Given the description of an element on the screen output the (x, y) to click on. 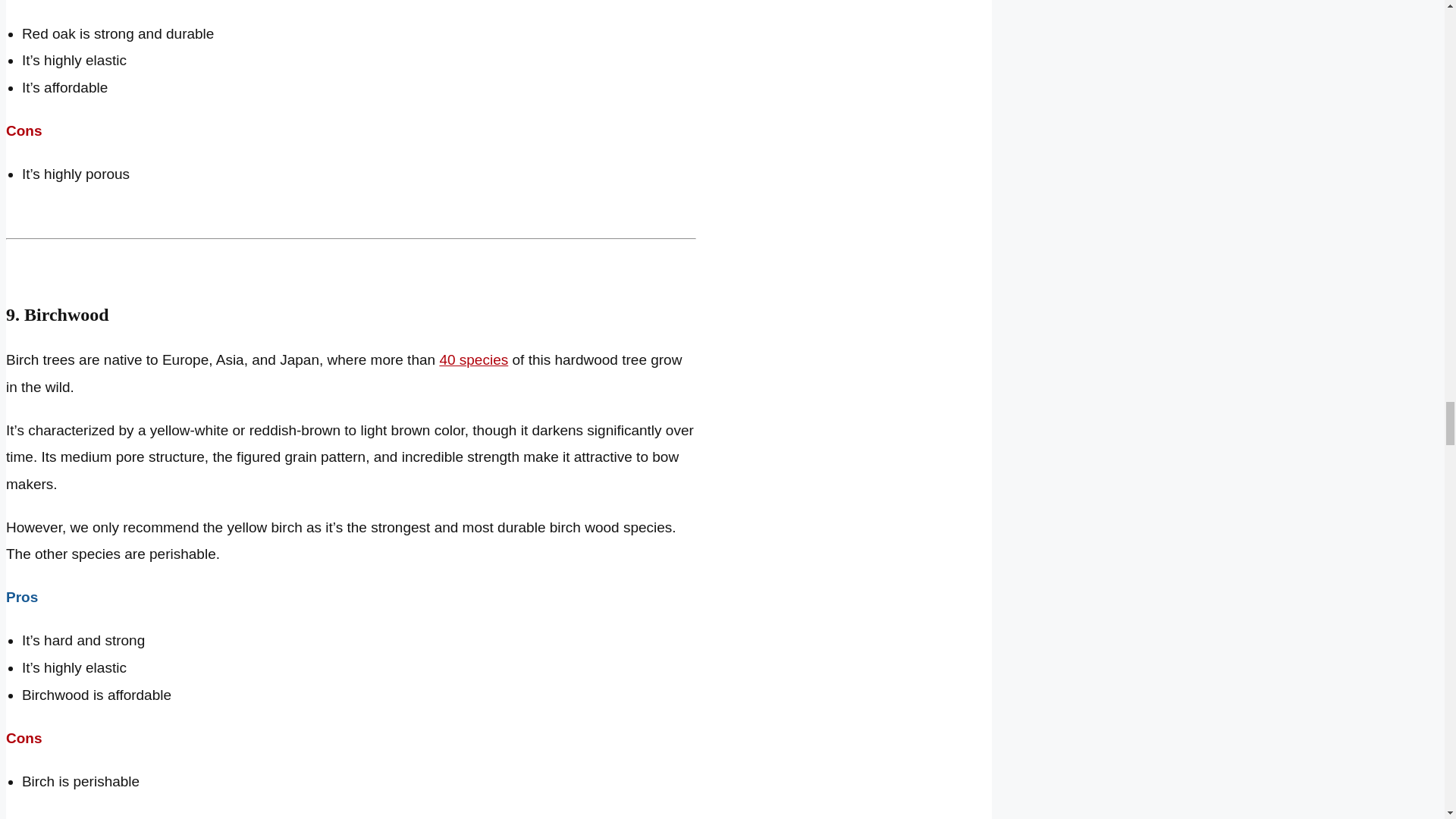
40 species (473, 359)
